Given the description of an element on the screen output the (x, y) to click on. 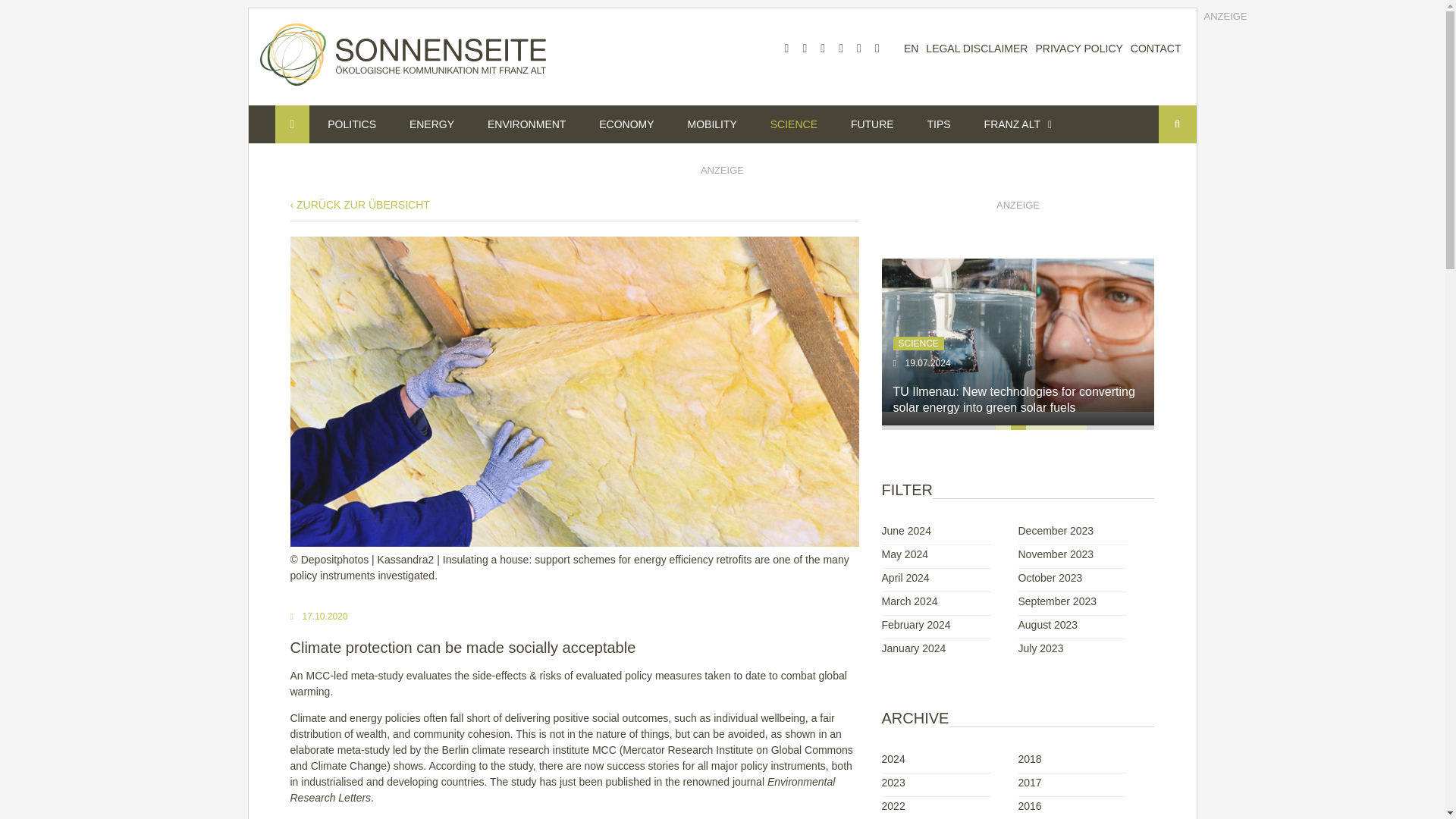
TIPS (939, 124)
linkedin (840, 48)
LEGAL DISCLAIMER (976, 48)
Search (1177, 124)
youtube (822, 48)
FUTURE (871, 124)
facebook (785, 48)
SCIENCE (793, 124)
xing (858, 48)
MOBILITY (712, 124)
PRIVACY POLICY (1078, 48)
EN (911, 48)
CONTACT (1155, 48)
twitter (804, 48)
